Given the description of an element on the screen output the (x, y) to click on. 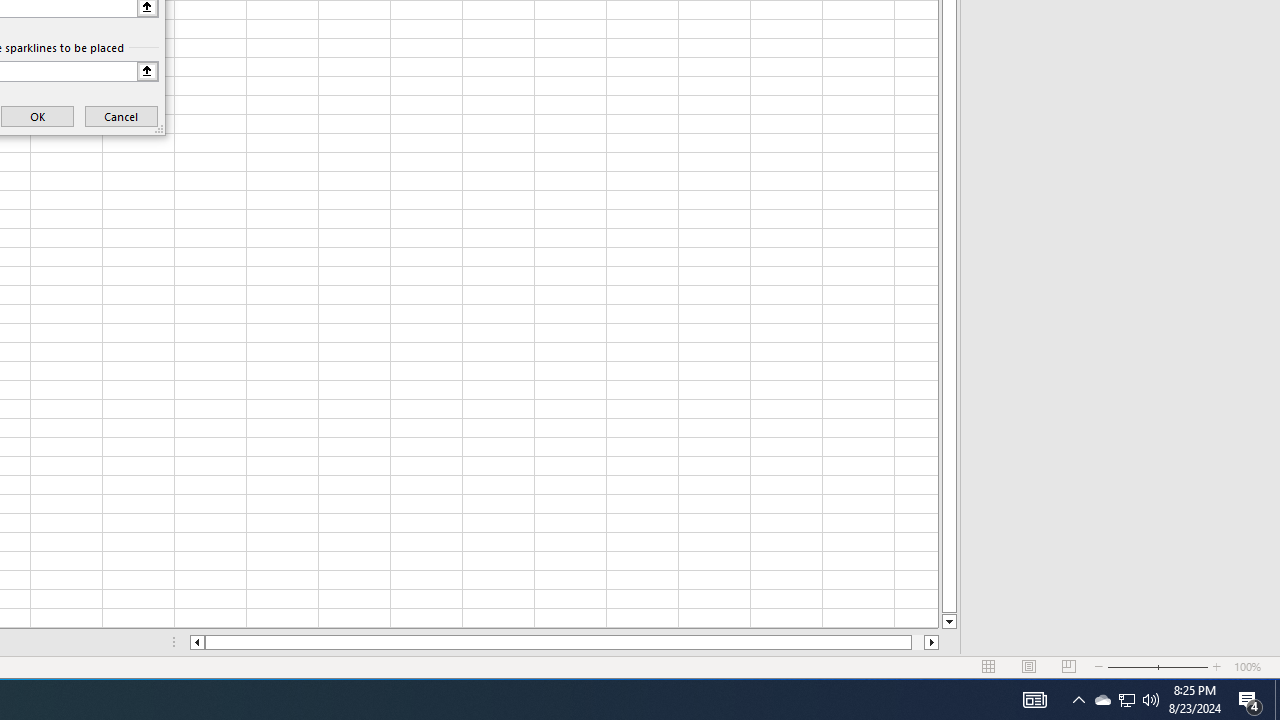
Page Layout (1028, 667)
Zoom Out (1131, 667)
Zoom In (1217, 667)
Zoom (1158, 667)
Page right (917, 642)
Line down (948, 622)
Page Break Preview (1069, 667)
Normal (988, 667)
Class: NetUIScrollBar (564, 642)
Column left (196, 642)
Column right (932, 642)
